Given the description of an element on the screen output the (x, y) to click on. 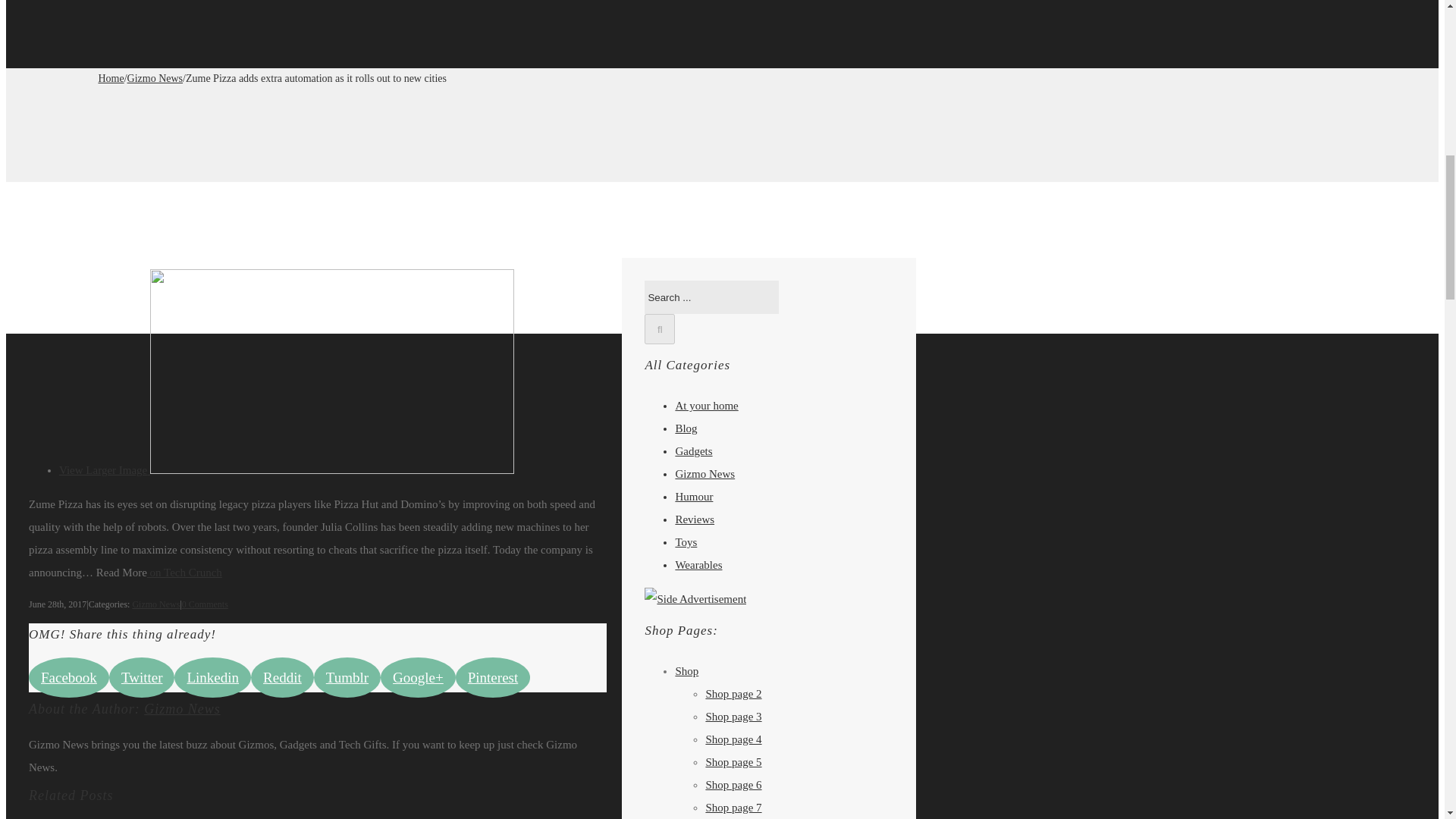
Facebook (69, 677)
Tumblr (347, 677)
Gizmo News (155, 78)
on Tech Crunch (184, 572)
Tumblr (347, 677)
View Larger Image (286, 469)
Facebook (69, 677)
Pinterest (493, 677)
Posts by Gizmo News (182, 708)
0 Comments (205, 603)
